Given the description of an element on the screen output the (x, y) to click on. 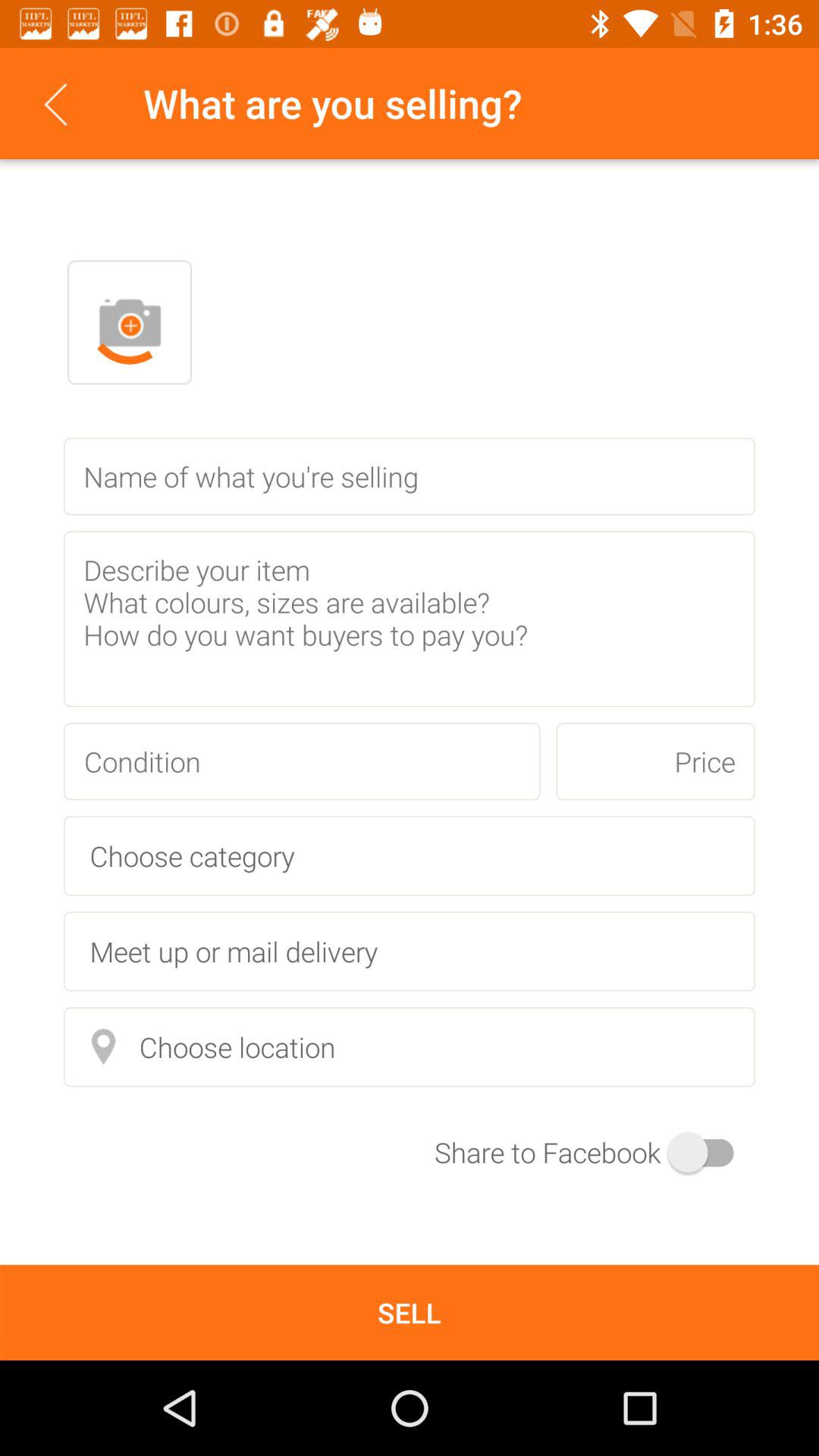
enter description (409, 618)
